Given the description of an element on the screen output the (x, y) to click on. 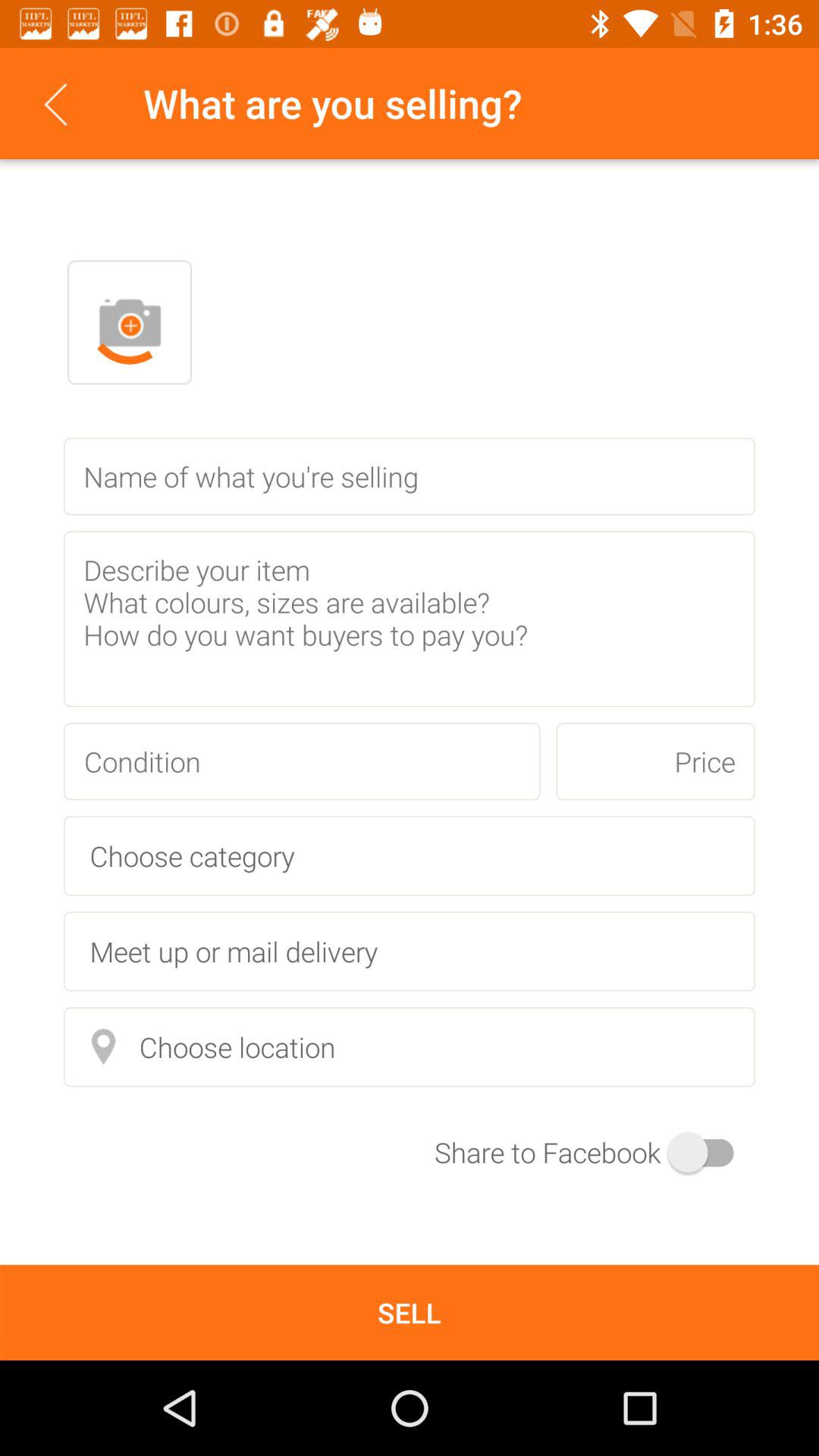
enter description (409, 618)
